Given the description of an element on the screen output the (x, y) to click on. 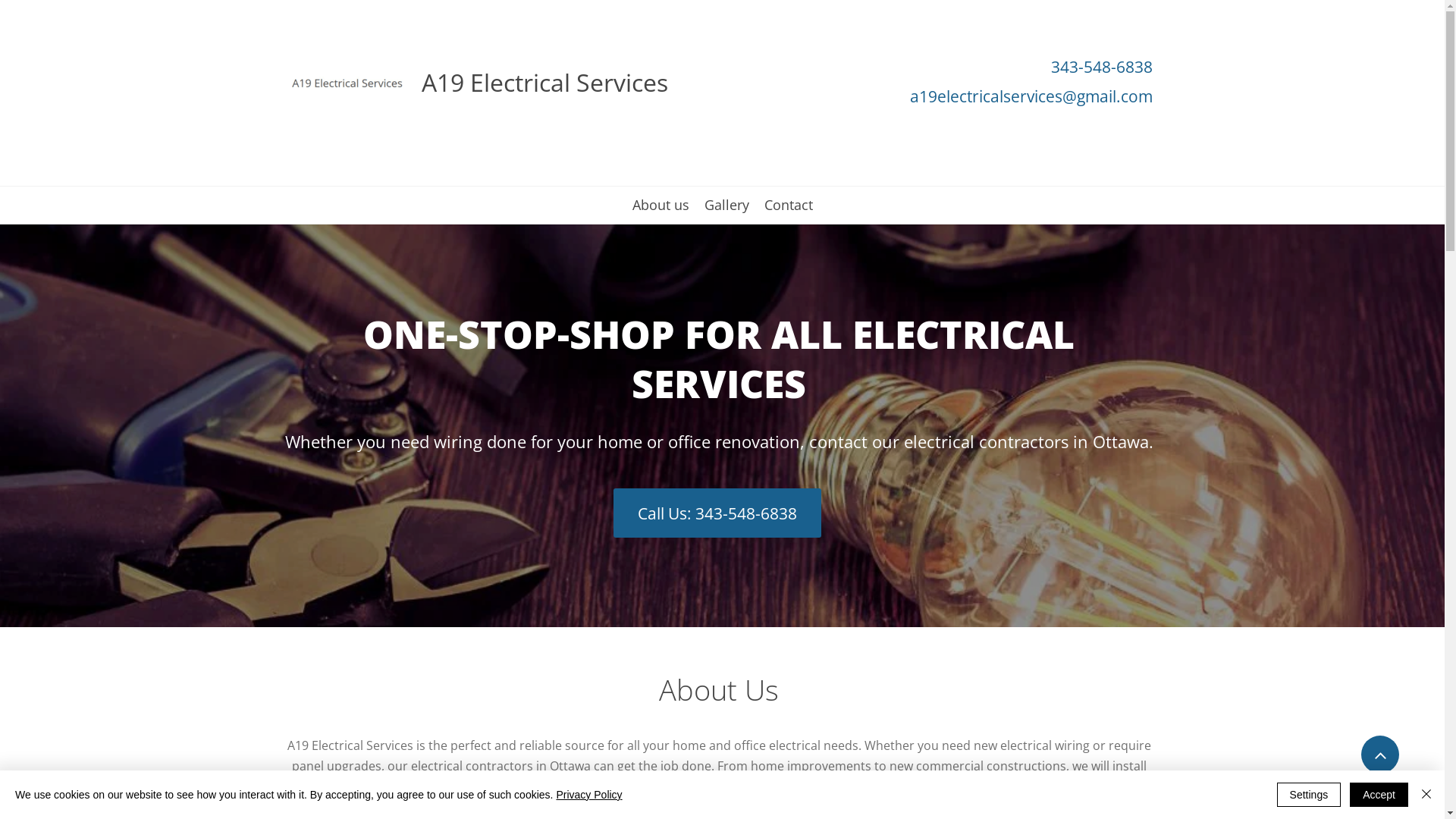
a19electricalservices@gmail.com Element type: text (1031, 99)
Settings Element type: text (1309, 794)
Accept Element type: text (1378, 794)
Privacy Policy Element type: text (588, 794)
Contact Element type: text (788, 210)
Call Us: 343-548-6838 Element type: text (716, 512)
Gallery Element type: text (726, 210)
About us Element type: text (660, 210)
343-548-6838 Element type: text (1101, 69)
A19 Electrical Services Element type: text (544, 88)
